Given the description of an element on the screen output the (x, y) to click on. 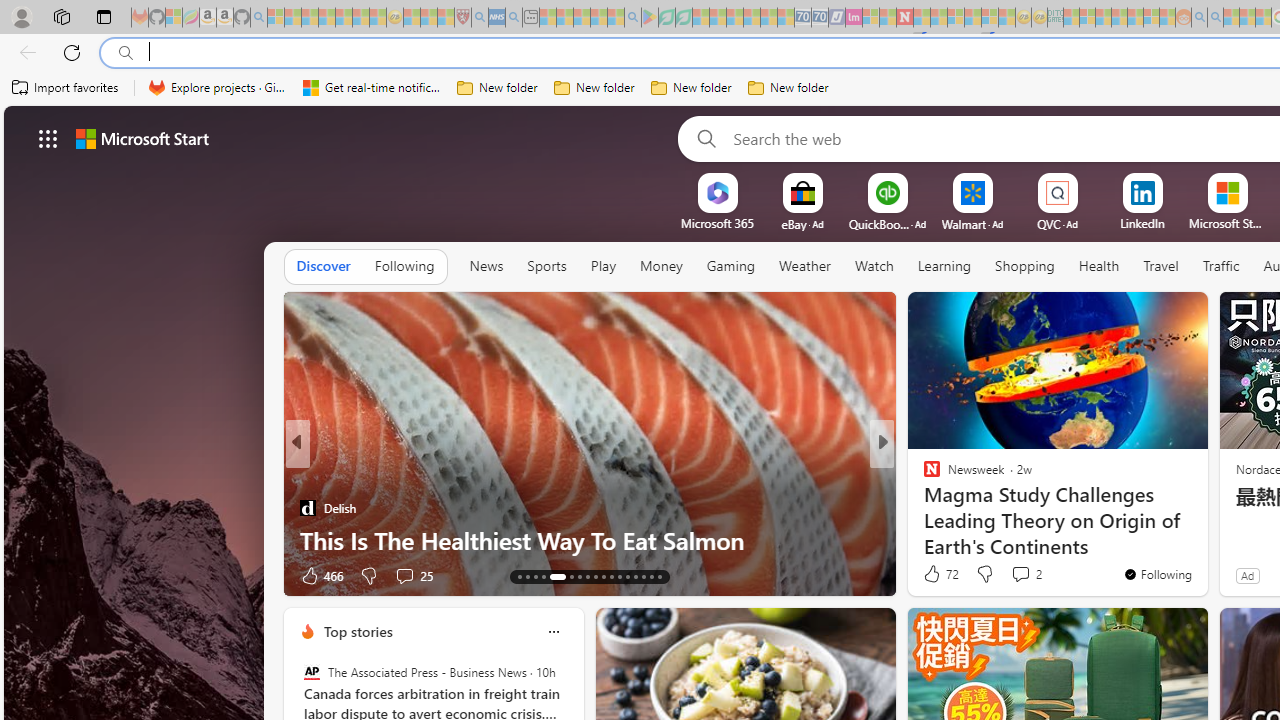
Start the conversation (1014, 575)
Secret History (923, 507)
AutomationID: waffle (47, 138)
Shopping (1025, 265)
Learning (944, 267)
Bluey: Let's Play! - Apps on Google Play - Sleeping (649, 17)
311 Like (936, 574)
LinkedIn (1142, 223)
AutomationID: tab-24 (619, 576)
View comments 5 Comment (1014, 575)
News (486, 265)
